Given the description of an element on the screen output the (x, y) to click on. 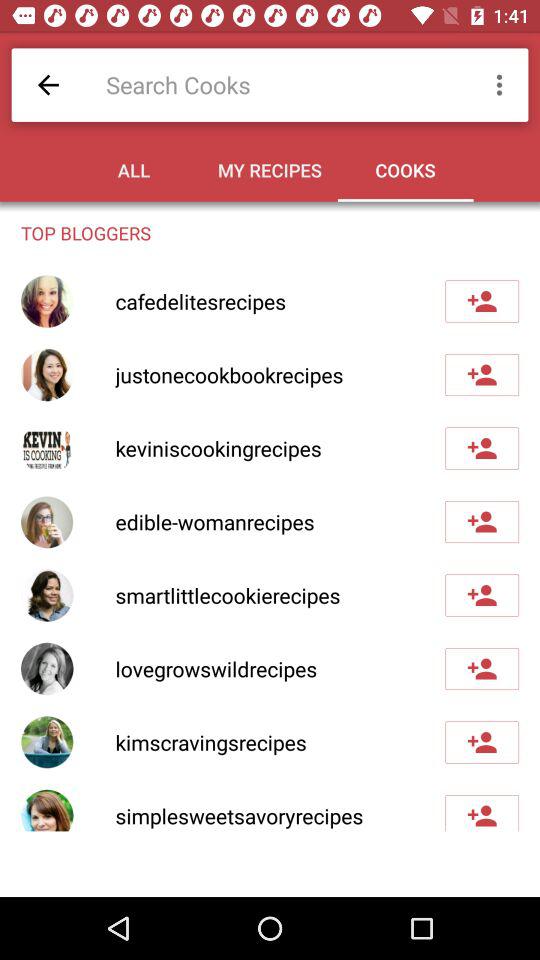
add cafedelitesrecipes (482, 301)
